Given the description of an element on the screen output the (x, y) to click on. 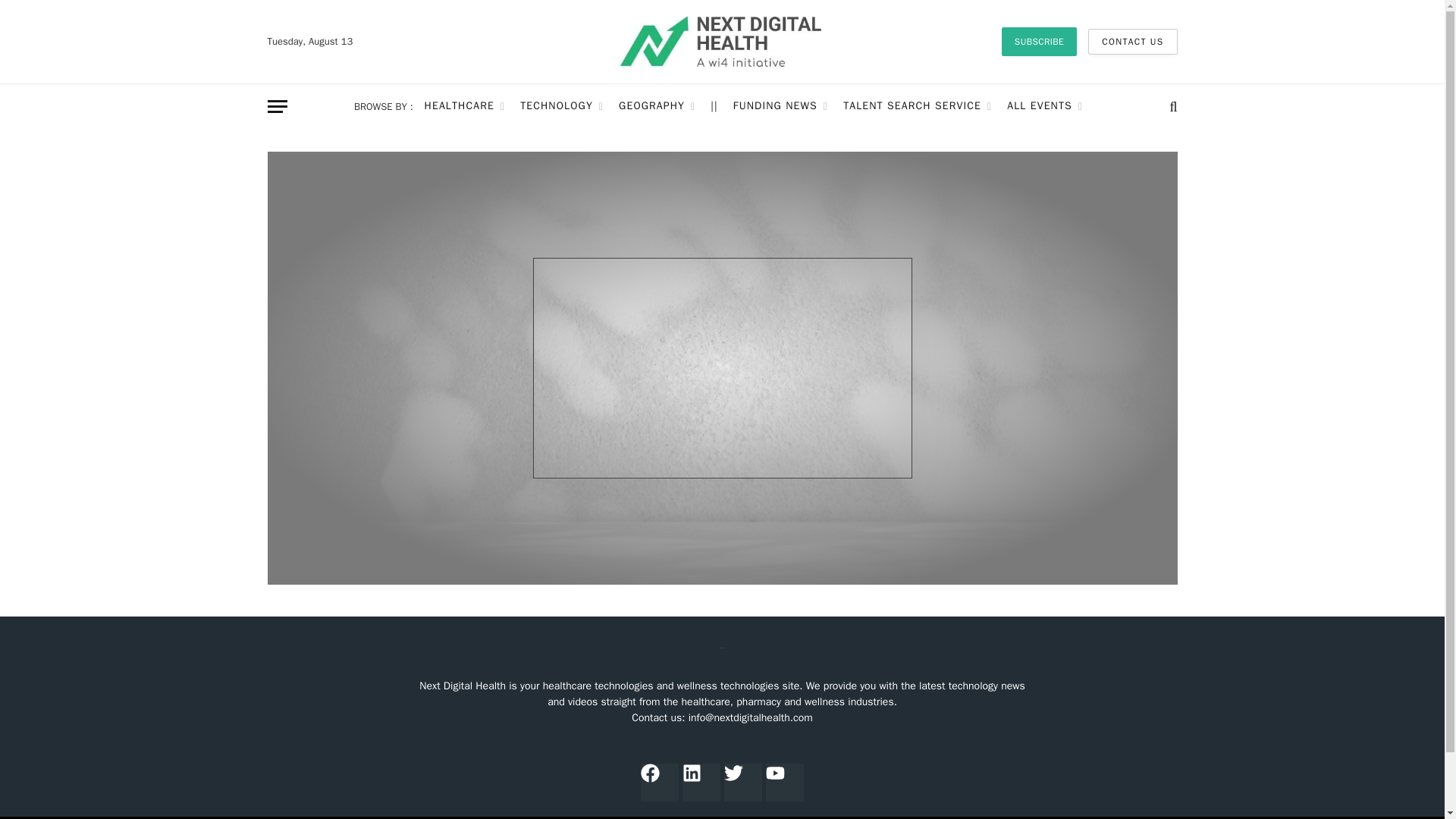
Next Digital Health (722, 41)
HEALTHCARE (464, 106)
CONTACT US (1131, 41)
SUBSCRIBE (1039, 41)
